Given the description of an element on the screen output the (x, y) to click on. 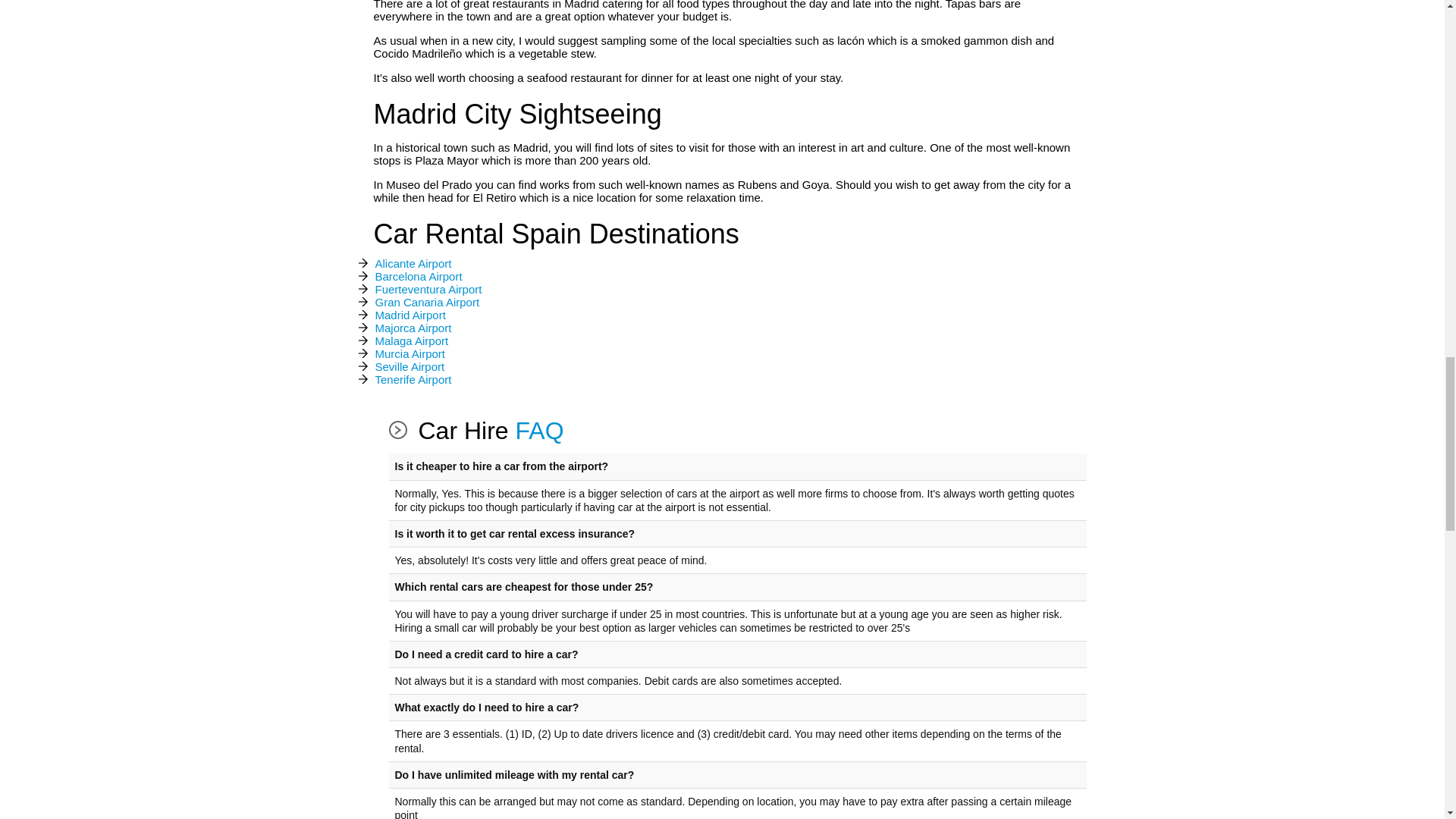
Seville Airport (409, 367)
Barcelona Airport (417, 277)
Murcia Airport (409, 354)
Madrid Airport (409, 315)
Fuerteventura Airport (427, 289)
Gran Canaria Airport (426, 302)
Alicante Airport (412, 264)
Malaga Airport (411, 341)
Majorca Airport (412, 328)
Tenerife Airport (412, 380)
